Given the description of an element on the screen output the (x, y) to click on. 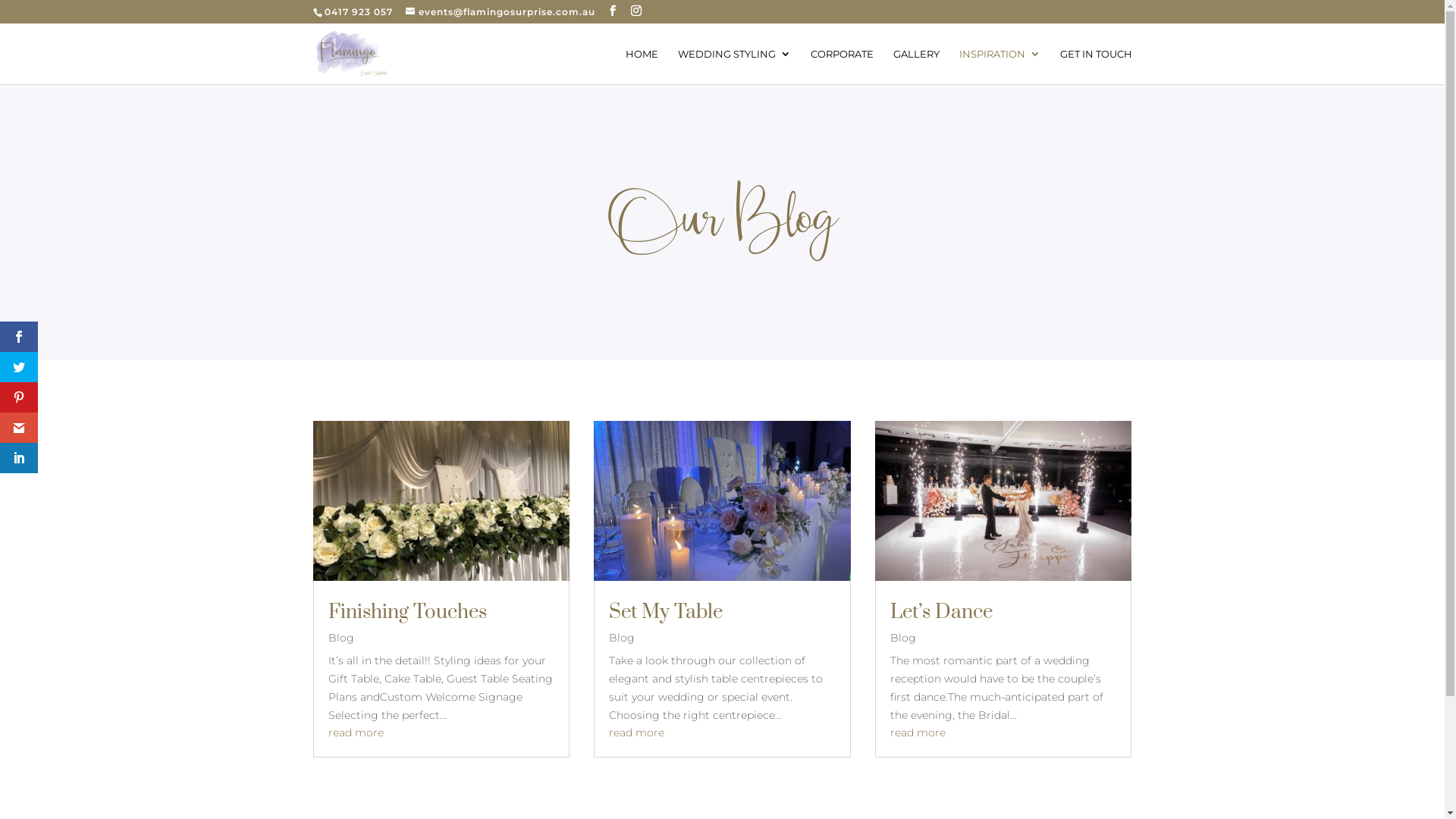
Blog Element type: text (340, 637)
events@flamingosurprise.com.au Element type: text (499, 11)
Finishing Touches Element type: text (406, 611)
Set My Table Element type: text (665, 611)
Blog Element type: text (621, 637)
INSPIRATION Element type: text (998, 66)
GALLERY Element type: text (916, 66)
WEDDING STYLING Element type: text (733, 66)
read more Element type: text (917, 732)
GET IN TOUCH Element type: text (1096, 66)
Blog Element type: text (903, 637)
read more Element type: text (636, 732)
CORPORATE Element type: text (840, 66)
read more Element type: text (354, 732)
HOME Element type: text (640, 66)
